Given the description of an element on the screen output the (x, y) to click on. 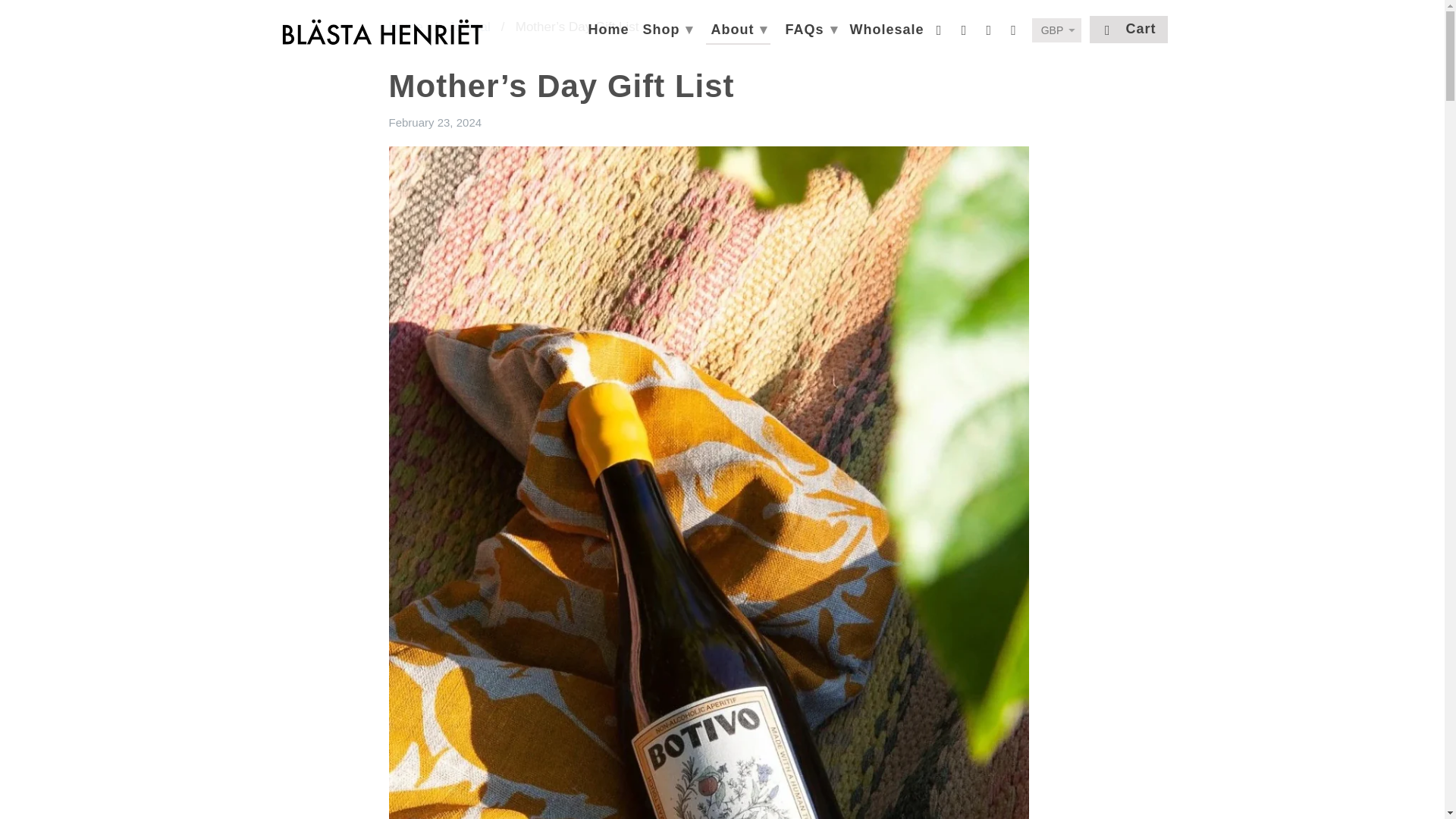
Blasta Henriet (405, 26)
Journal (469, 26)
Blasta Henriet (380, 31)
